Given the description of an element on the screen output the (x, y) to click on. 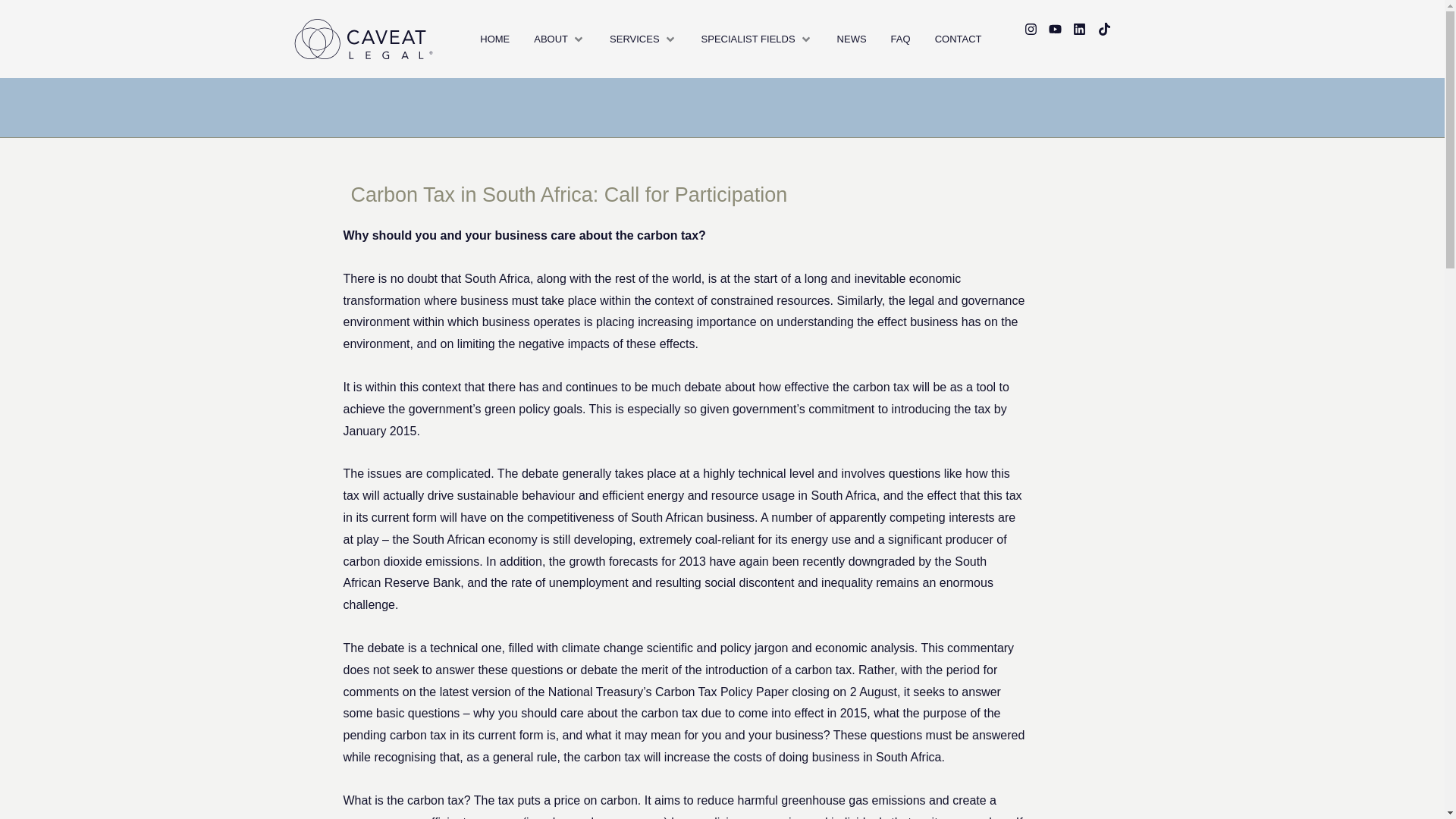
SERVICES (634, 39)
HOME (494, 39)
ABOUT (550, 39)
SPECIALIST FIELDS (747, 39)
